Given the description of an element on the screen output the (x, y) to click on. 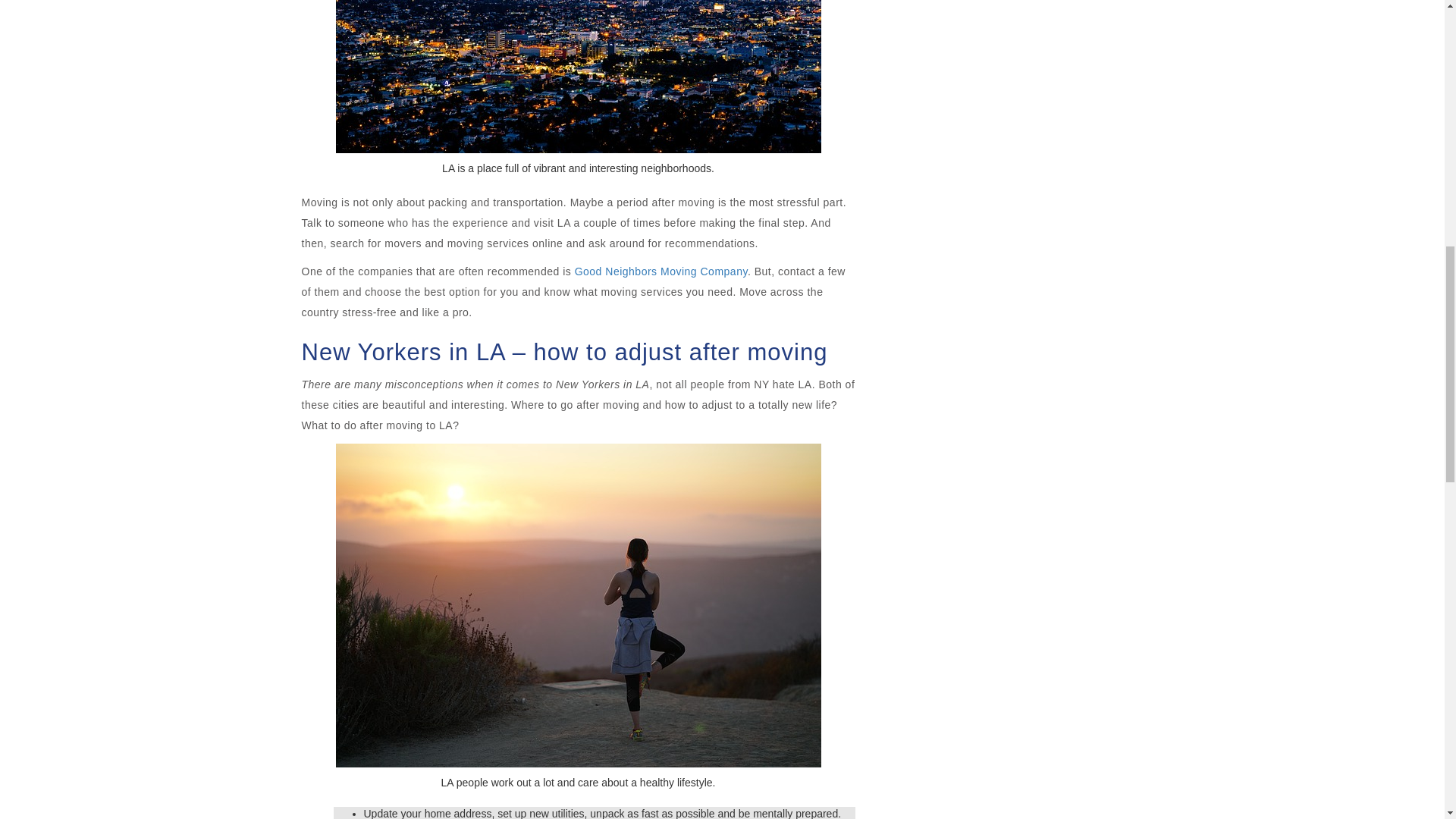
Good Neighbors Moving Company (661, 271)
